Given the description of an element on the screen output the (x, y) to click on. 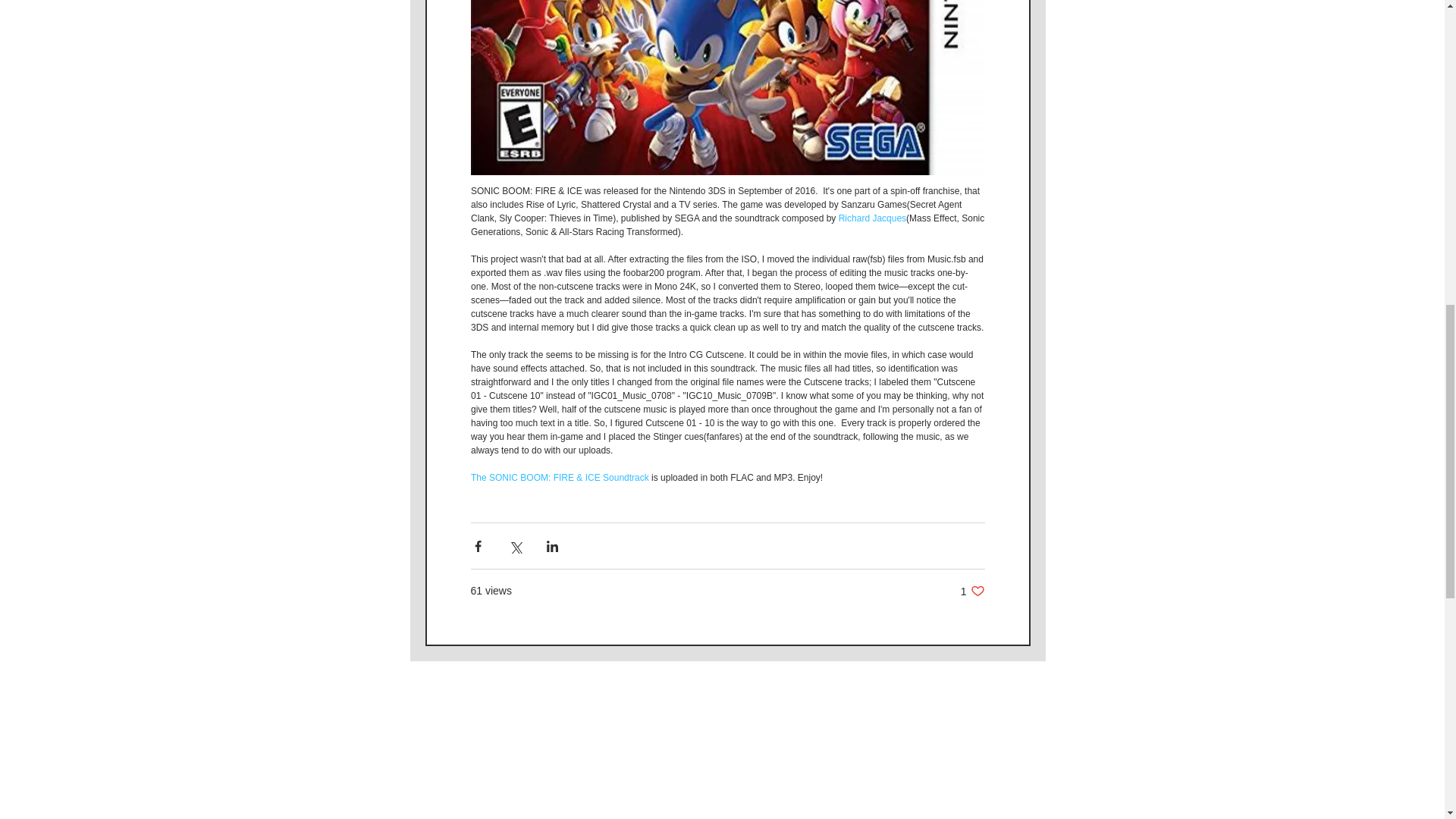
Richard Jacques (871, 217)
